Given the description of an element on the screen output the (x, y) to click on. 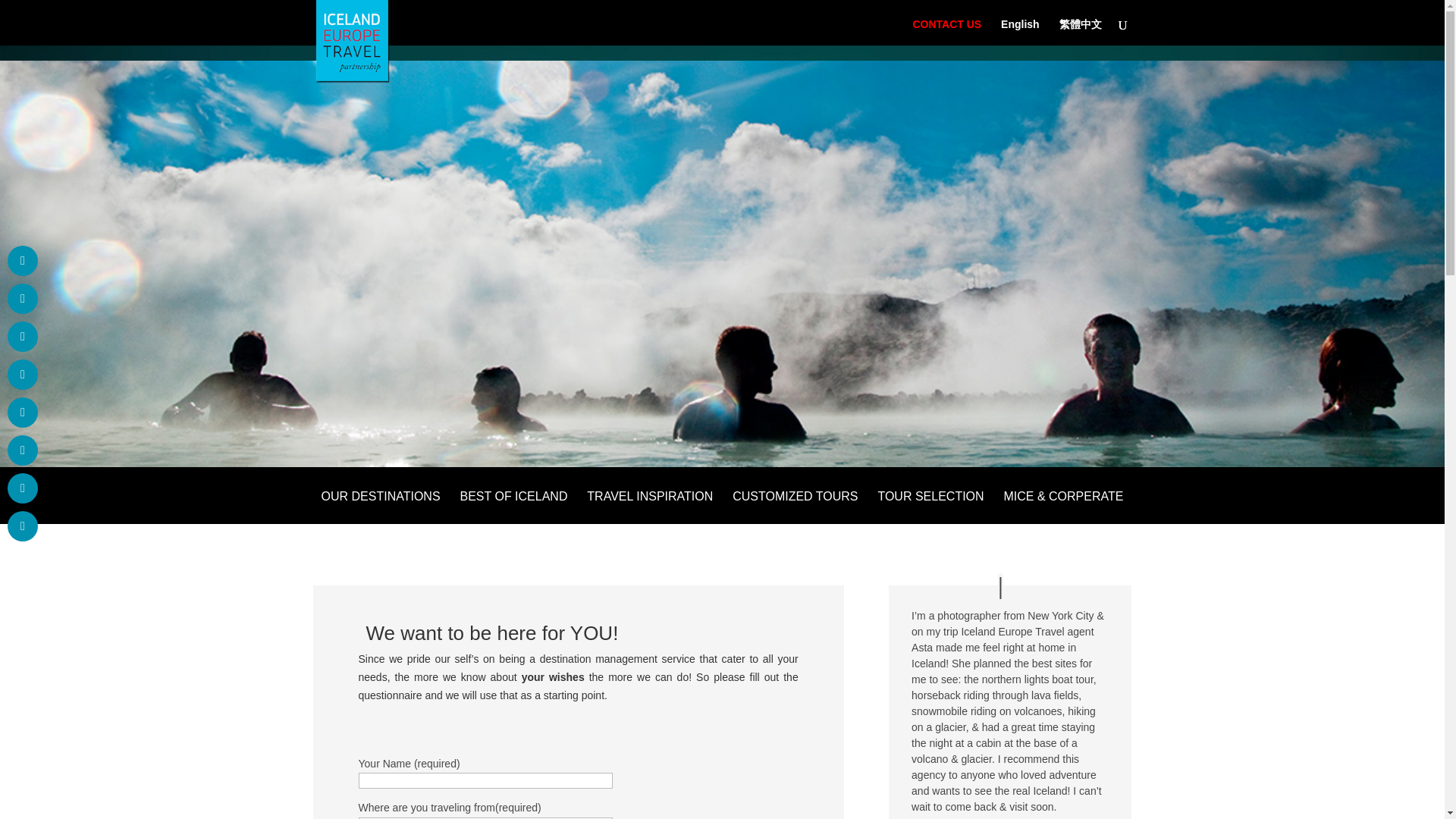
CONTACT US (946, 50)
TOUR SELECTION (930, 507)
BEST OF ICELAND (513, 507)
OUR DESTINATIONS (381, 507)
CUSTOMIZED TOURS (794, 507)
TRAVEL INSPIRATION (649, 507)
